Given the description of an element on the screen output the (x, y) to click on. 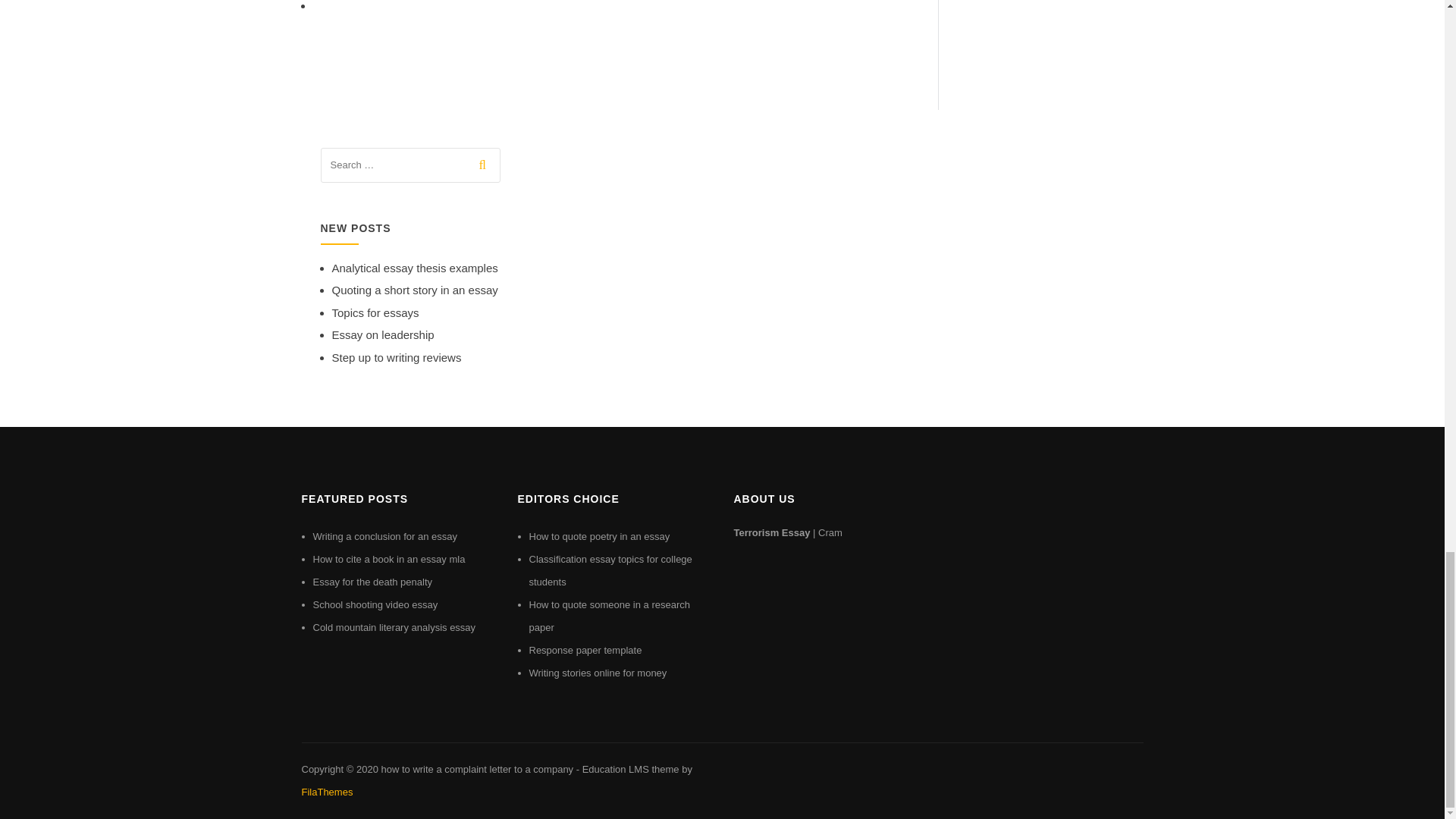
How to quote someone in a research paper (609, 615)
How to cite a book in an essay mla (388, 559)
Writing stories online for money (597, 672)
Response paper template (585, 650)
Essay on leadership (382, 334)
Quoting a short story in an essay (414, 289)
How to quote poetry in an essay (599, 536)
Cold mountain literary analysis essay (394, 627)
Step up to writing reviews (396, 357)
Classification essay topics for college students (611, 570)
Essay for the death penalty (372, 582)
how to write a complaint letter to a company (476, 768)
how to write a complaint letter to a company (476, 768)
Writing a conclusion for an essay (385, 536)
Analytical essay thesis examples (414, 267)
